Given the description of an element on the screen output the (x, y) to click on. 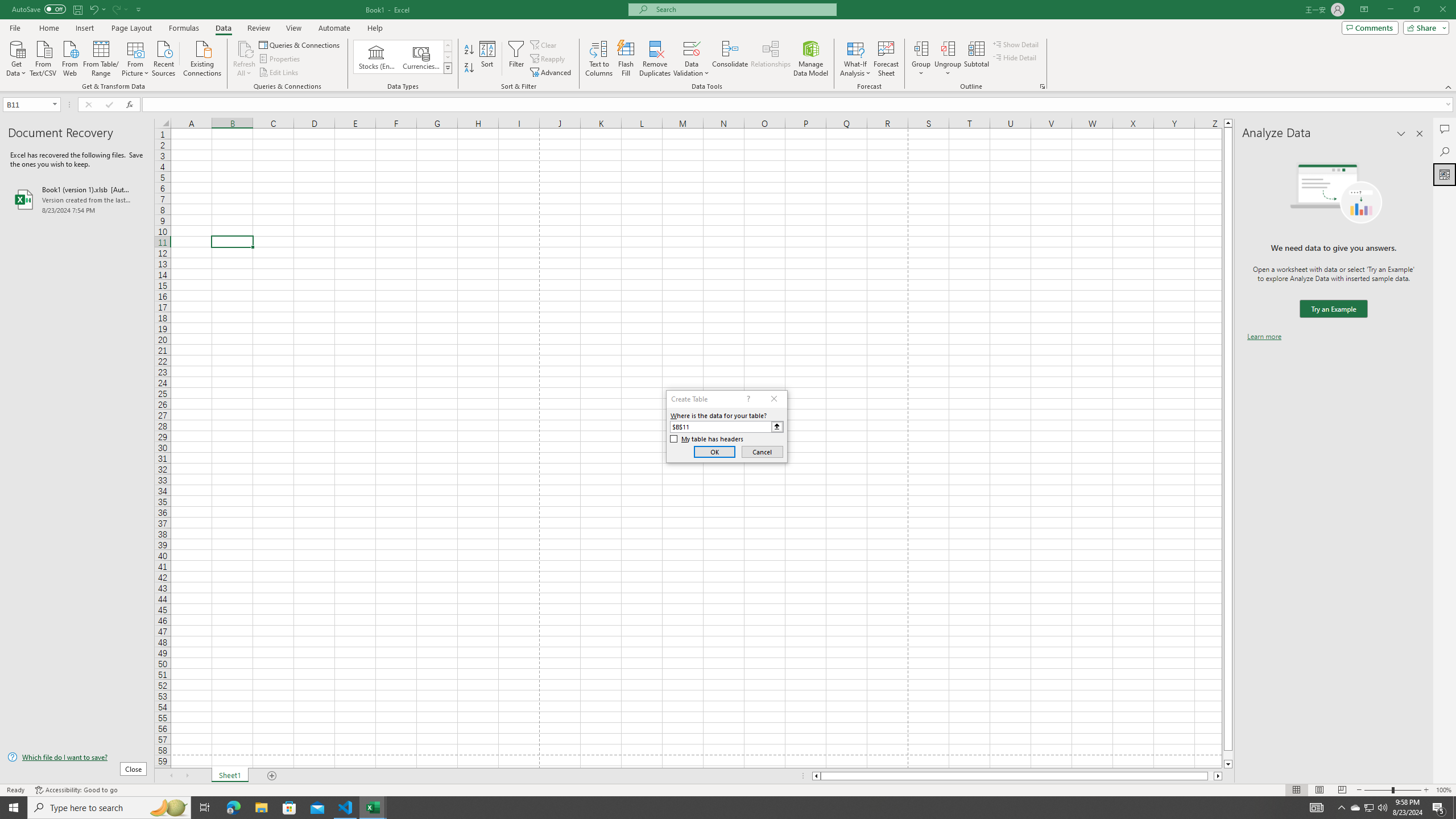
Edit Links (279, 72)
Subtotal (976, 58)
Forecast Sheet (885, 58)
Currencies (English) (420, 56)
From Web (69, 57)
